Given the description of an element on the screen output the (x, y) to click on. 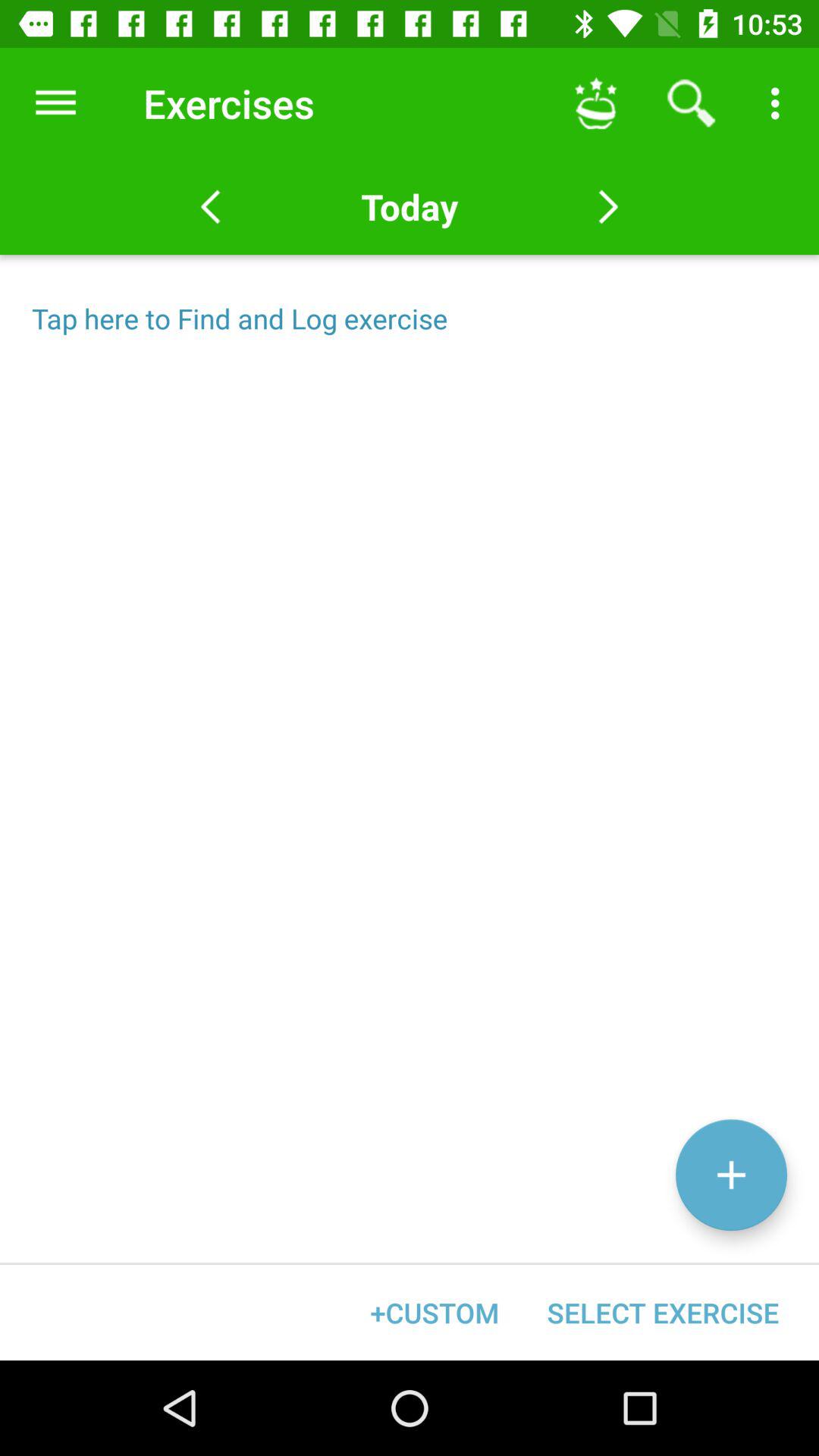
select the icon next to select exercise (434, 1312)
